Given the description of an element on the screen output the (x, y) to click on. 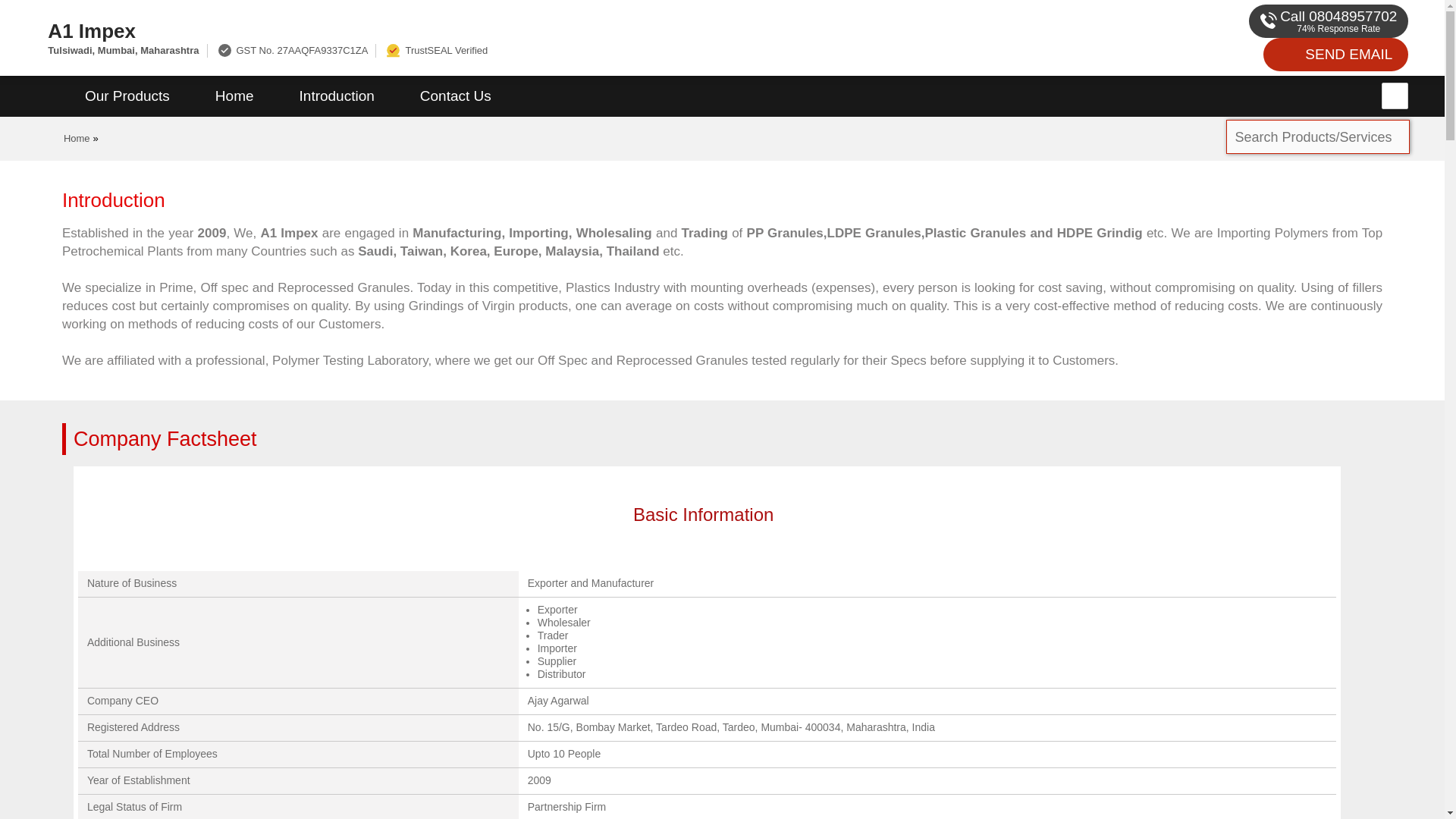
A1 Impex (485, 31)
Home (234, 96)
Introduction (336, 96)
Our Products (127, 96)
Contact Us (455, 96)
Home (77, 138)
